Given the description of an element on the screen output the (x, y) to click on. 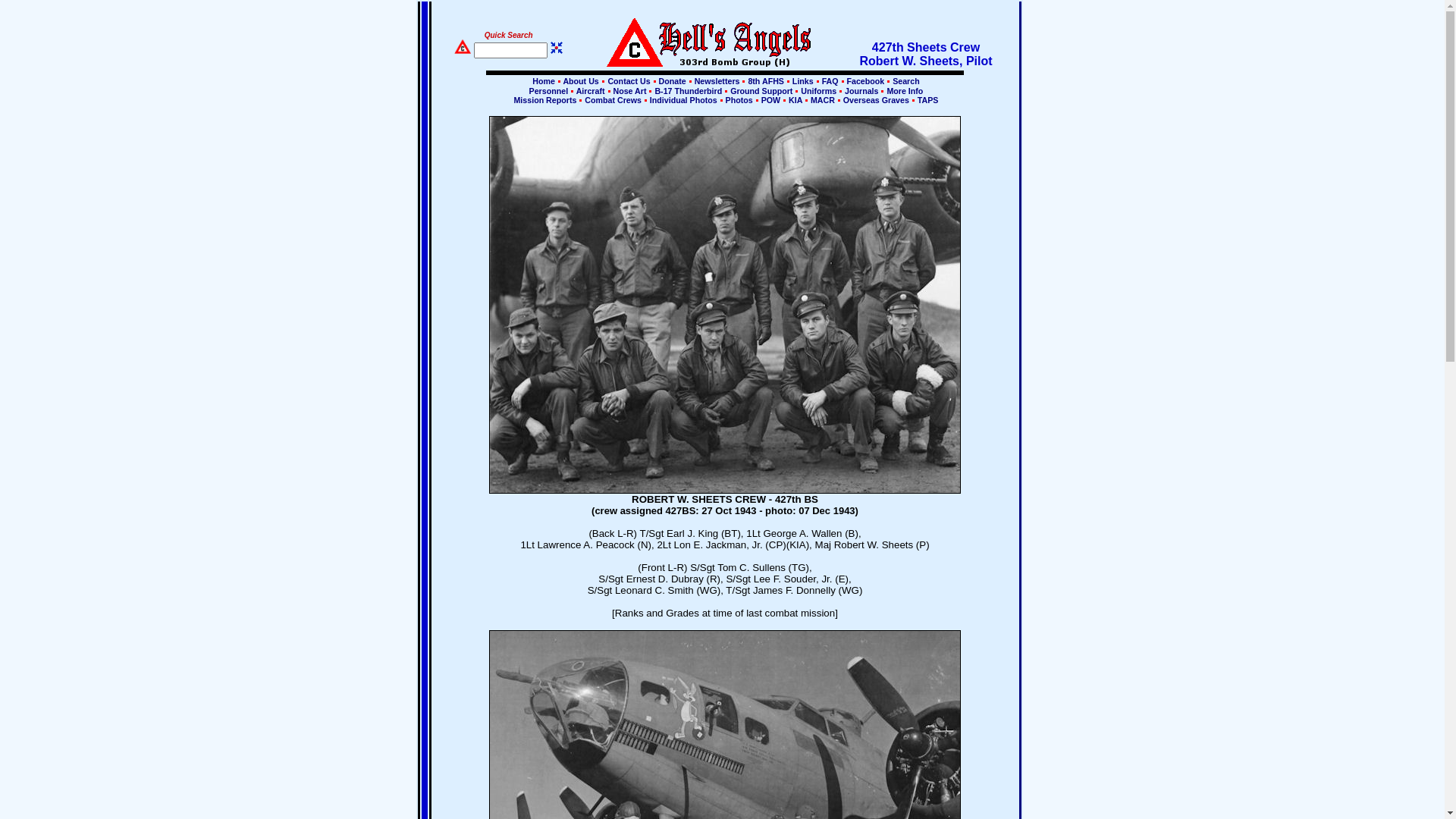
B-17 Thunderbird Element type: text (688, 90)
 Mission Reports Element type: text (545, 99)
KIA Element type: text (795, 99)
8th AFHS Element type: text (765, 80)
Links Element type: text (802, 80)
 Personnel Element type: text (548, 90)
Uniforms Element type: text (818, 90)
MACR Element type: text (822, 99)
POW Element type: text (770, 99)
Facebook Element type: text (865, 80)
Combat Crews Element type: text (612, 99)
About Us Element type: text (580, 80)
Photos Element type: text (739, 99)
TAPS Element type: text (926, 99)
Individual Photos Element type: text (683, 99)
Journals Element type: text (861, 90)
Donate Element type: text (672, 80)
Overseas Graves Element type: text (875, 99)
Search Element type: text (904, 80)
FAQ Element type: text (829, 80)
 Home Element type: text (543, 80)
Newsletters Element type: text (717, 80)
Ground Support Element type: text (761, 90)
Aircraft Element type: text (590, 90)
More Info Element type: text (903, 90)
Nose Art Element type: text (630, 90)
Contact Us Element type: text (628, 80)
